Given the description of an element on the screen output the (x, y) to click on. 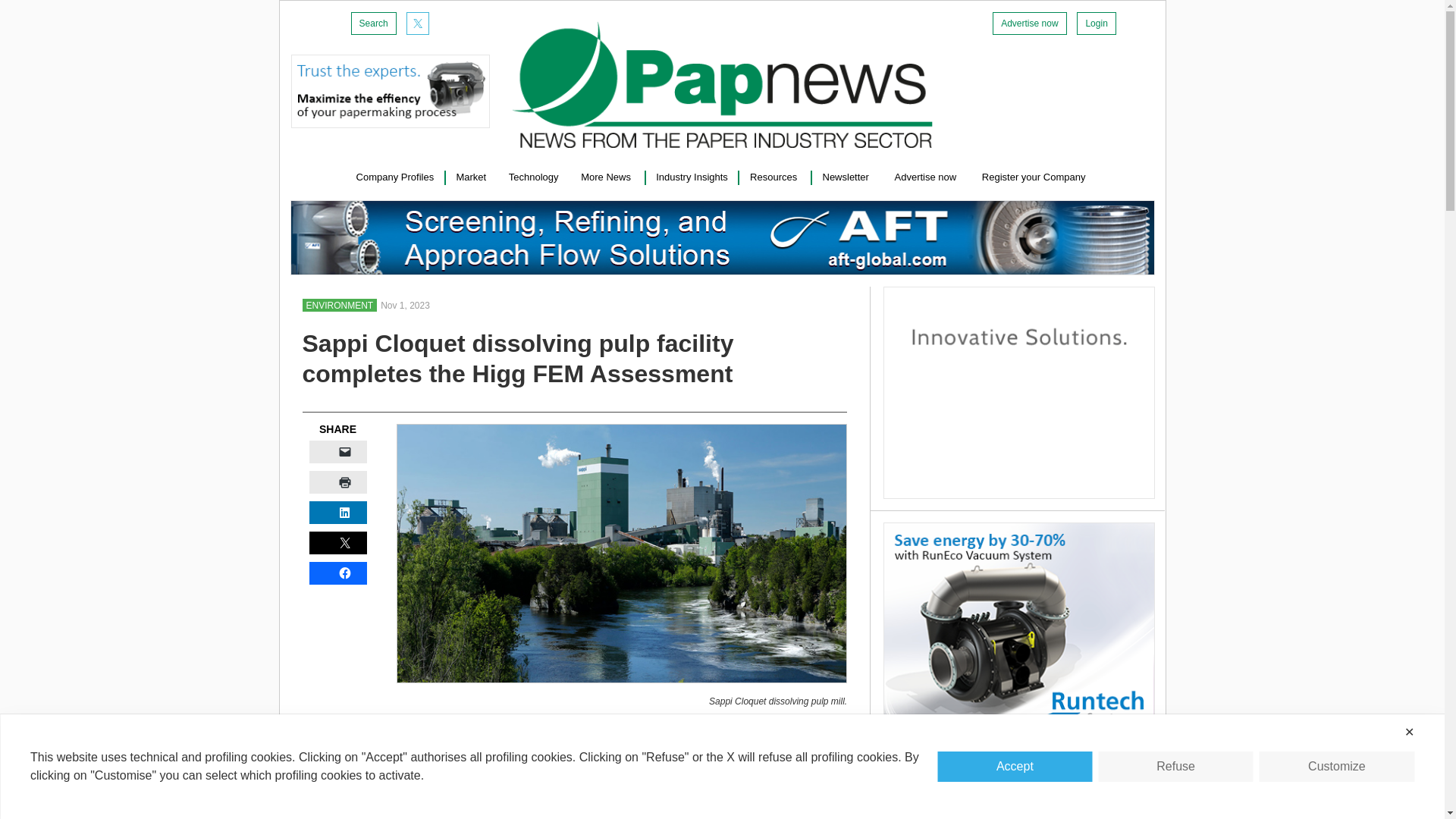
Search (373, 23)
Company Profiles (394, 176)
Click to share on Facebook (337, 572)
Resources (774, 176)
Click to share on LinkedIn (337, 512)
More News (606, 176)
Login (1096, 23)
ENVIRONMENT (339, 305)
back to home page (722, 84)
Technology (533, 176)
Market (470, 176)
Register your Company (1035, 176)
Advertise now (927, 176)
Advertise now (1028, 23)
Industry Insights (692, 176)
